Given the description of an element on the screen output the (x, y) to click on. 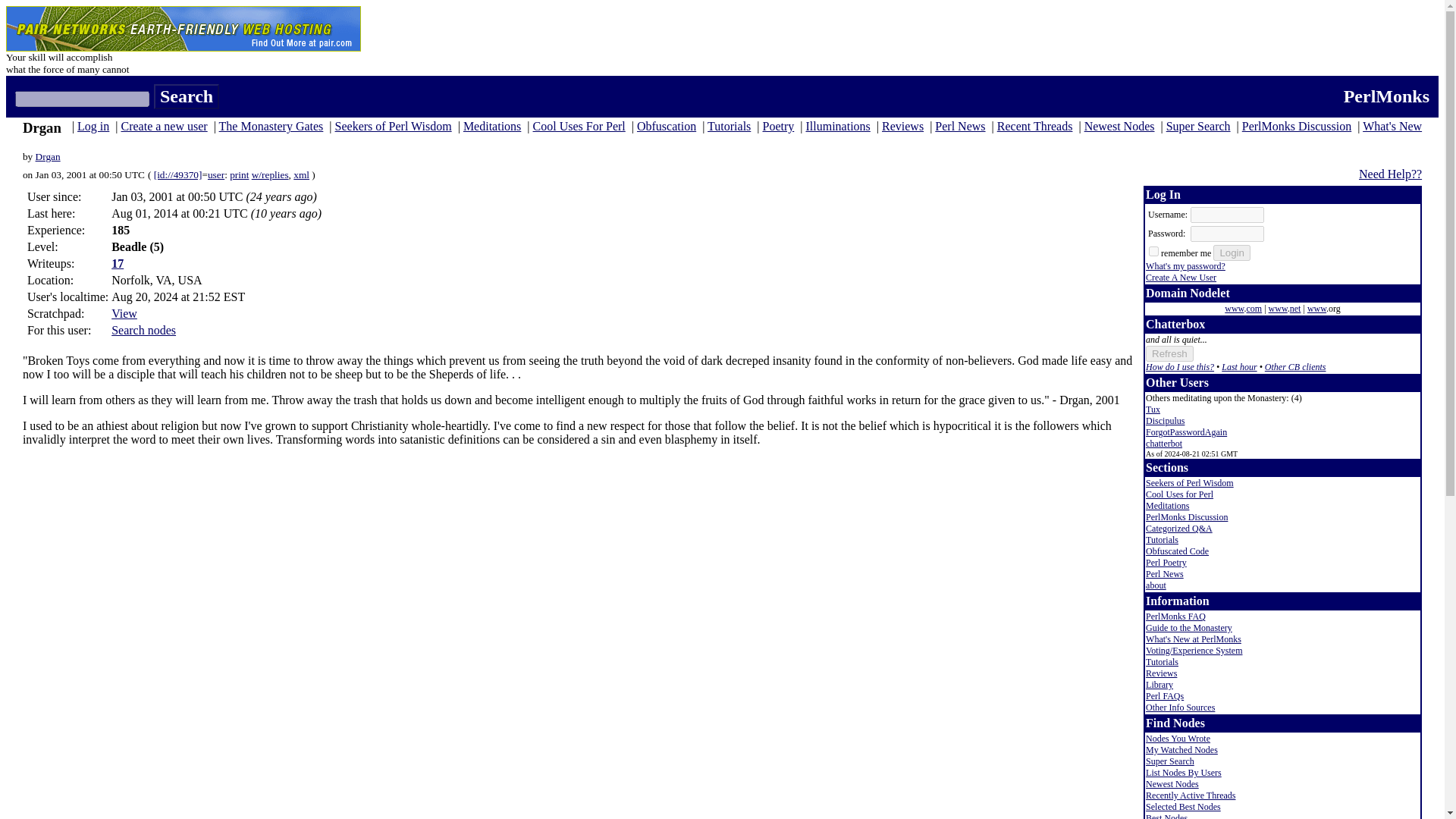
Need Help?? (1390, 173)
www (1316, 308)
PerlMonks Discussion (1296, 125)
Tux's home node. Level 20 (1152, 409)
xml (301, 174)
What's my password? (1185, 266)
Search (186, 96)
com (1254, 308)
Seekers of Perl Wisdom (392, 125)
Discipulus's home node. Level 20. Member of: janitors (1165, 420)
